Given the description of an element on the screen output the (x, y) to click on. 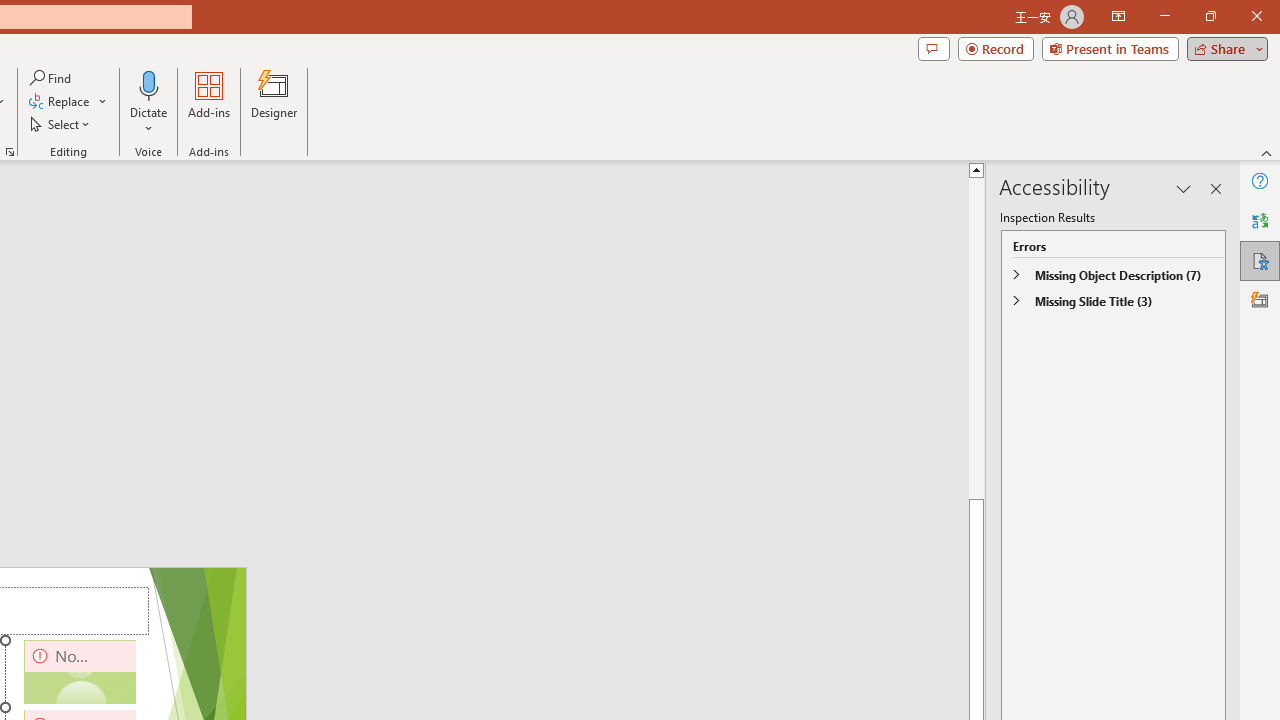
Camera 5, No camera detected. (80, 672)
